Given the description of an element on the screen output the (x, y) to click on. 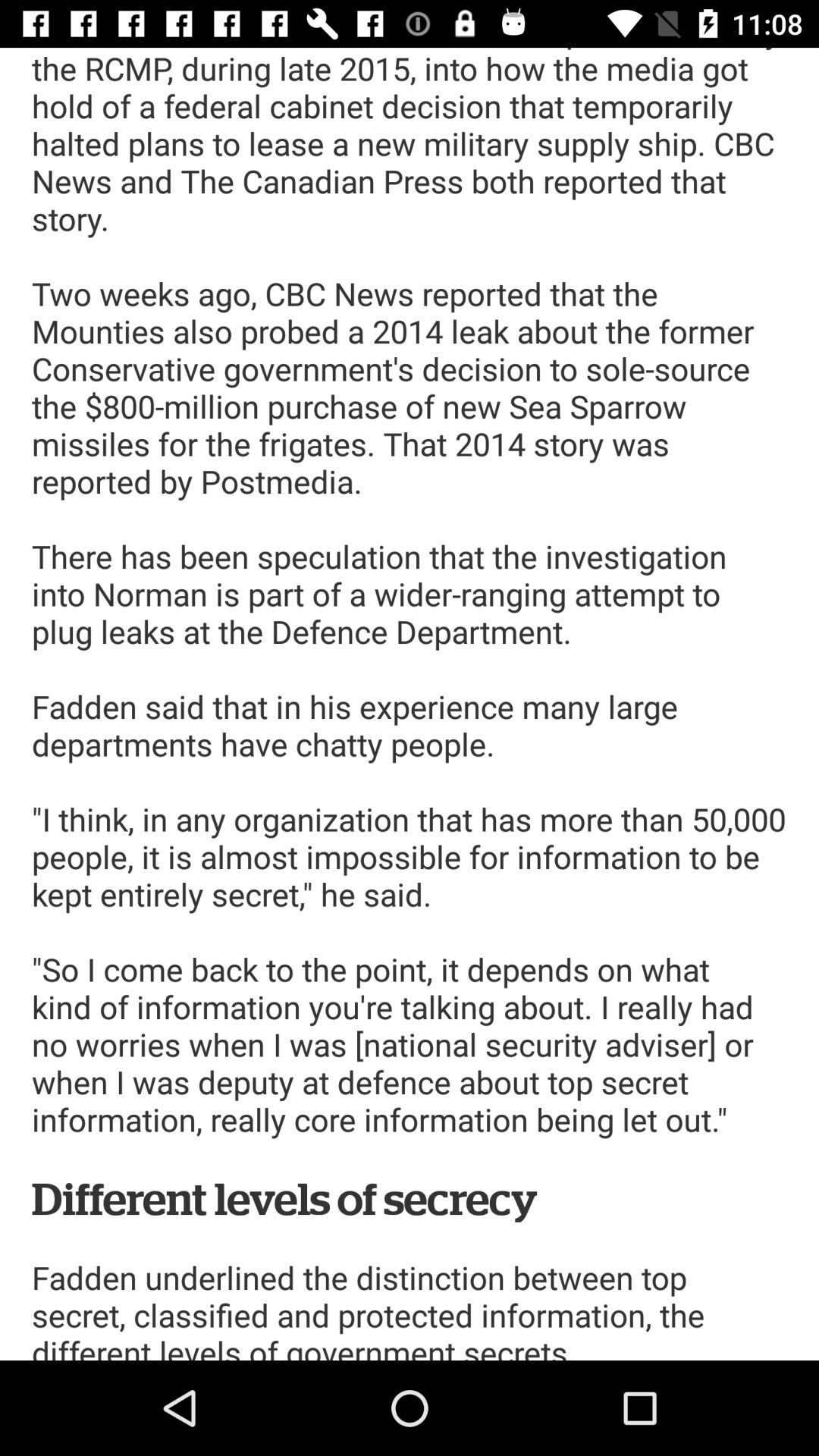
jump until i think that icon (409, 703)
